Given the description of an element on the screen output the (x, y) to click on. 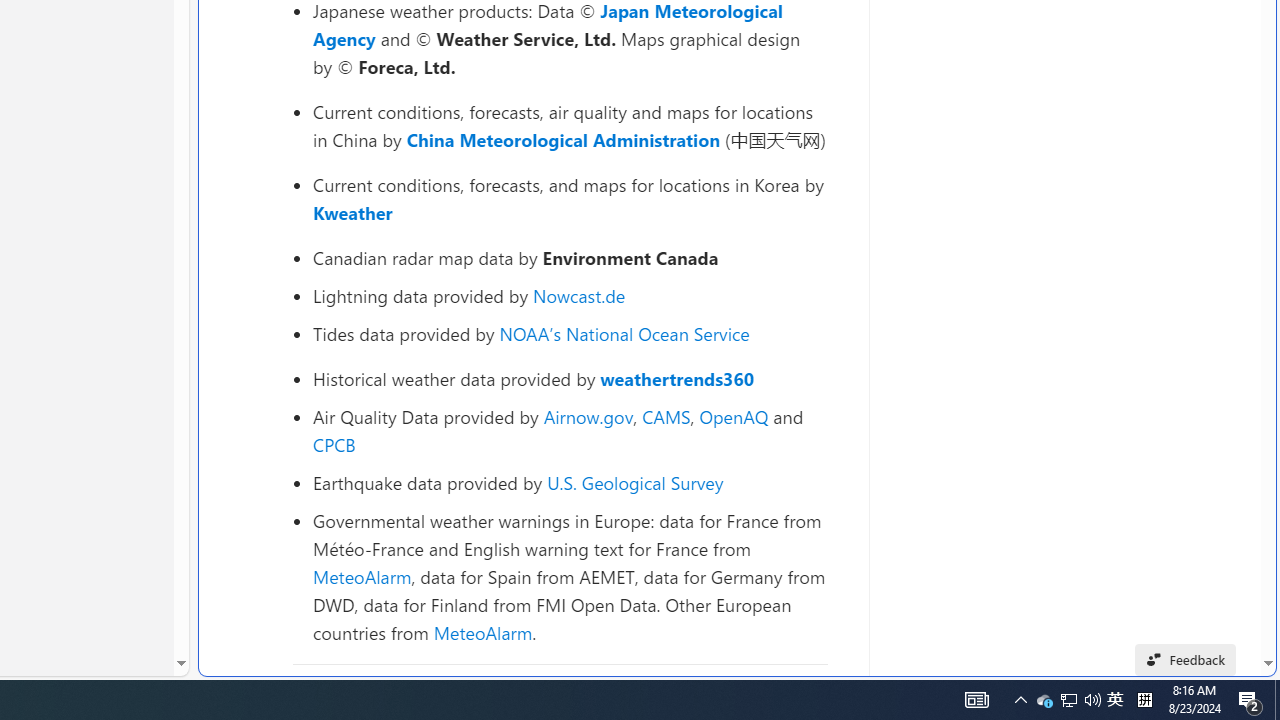
U.S. Geological Survey (635, 482)
China Meteorological Administration (562, 139)
Canadian radar map data by Environment Canada (570, 258)
Earthquake data provided by U.S. Geological Survey (570, 482)
Kweather (352, 212)
OpenAQ (733, 416)
Lightning data provided by Nowcast.de (570, 296)
weathertrends360 (677, 378)
Historical weather data provided by weathertrends360 (570, 379)
CAMS (666, 416)
Airnow.gov (587, 416)
Nowcast.de (578, 295)
